Given the description of an element on the screen output the (x, y) to click on. 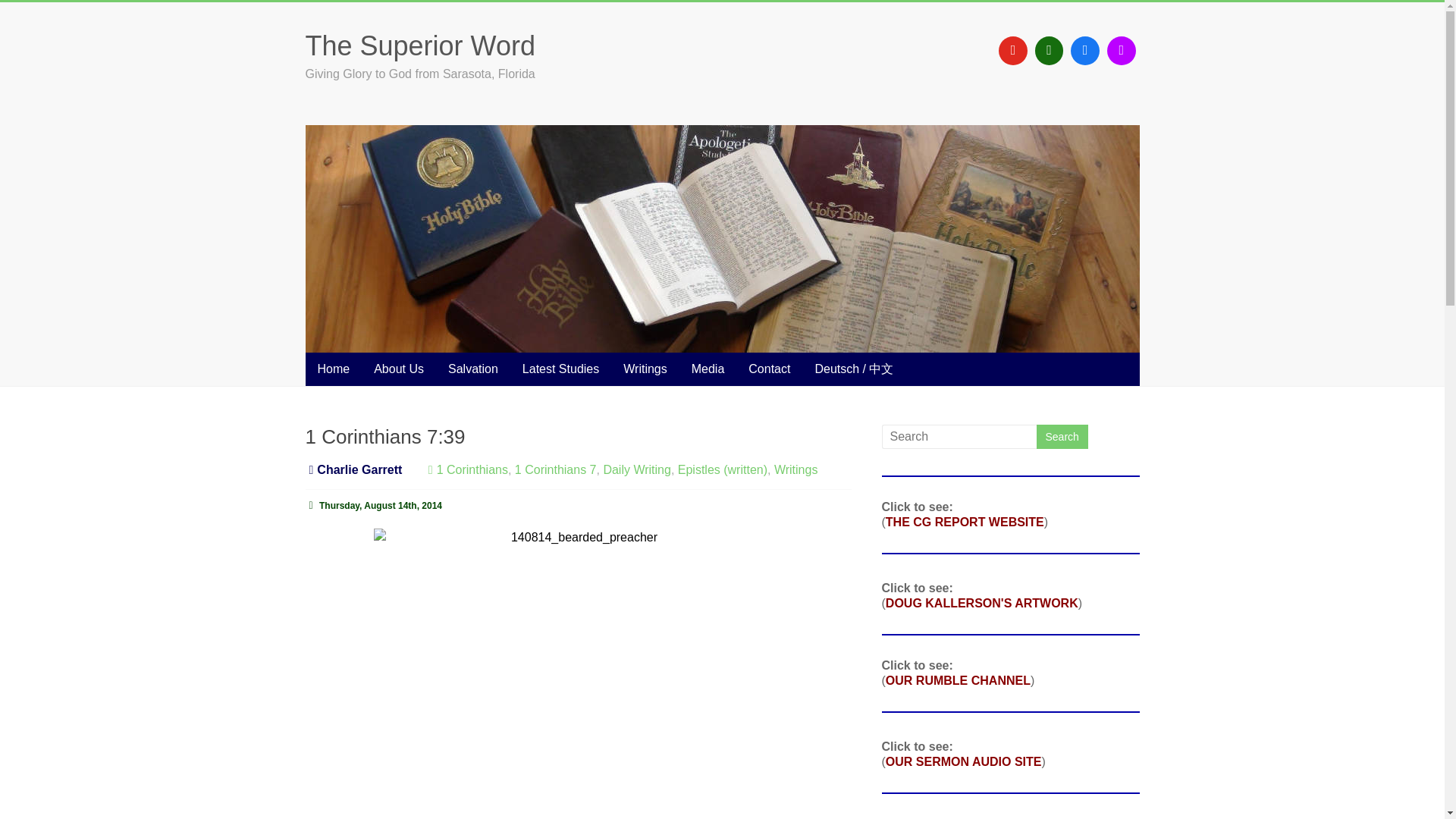
The Superior Word (419, 45)
Writings (645, 368)
About Us (398, 368)
Salvation (473, 368)
Contact (769, 368)
Latest Studies (561, 368)
Charlie Garrett (359, 469)
5:51 am (373, 505)
Home (332, 368)
Search (1061, 436)
